Given the description of an element on the screen output the (x, y) to click on. 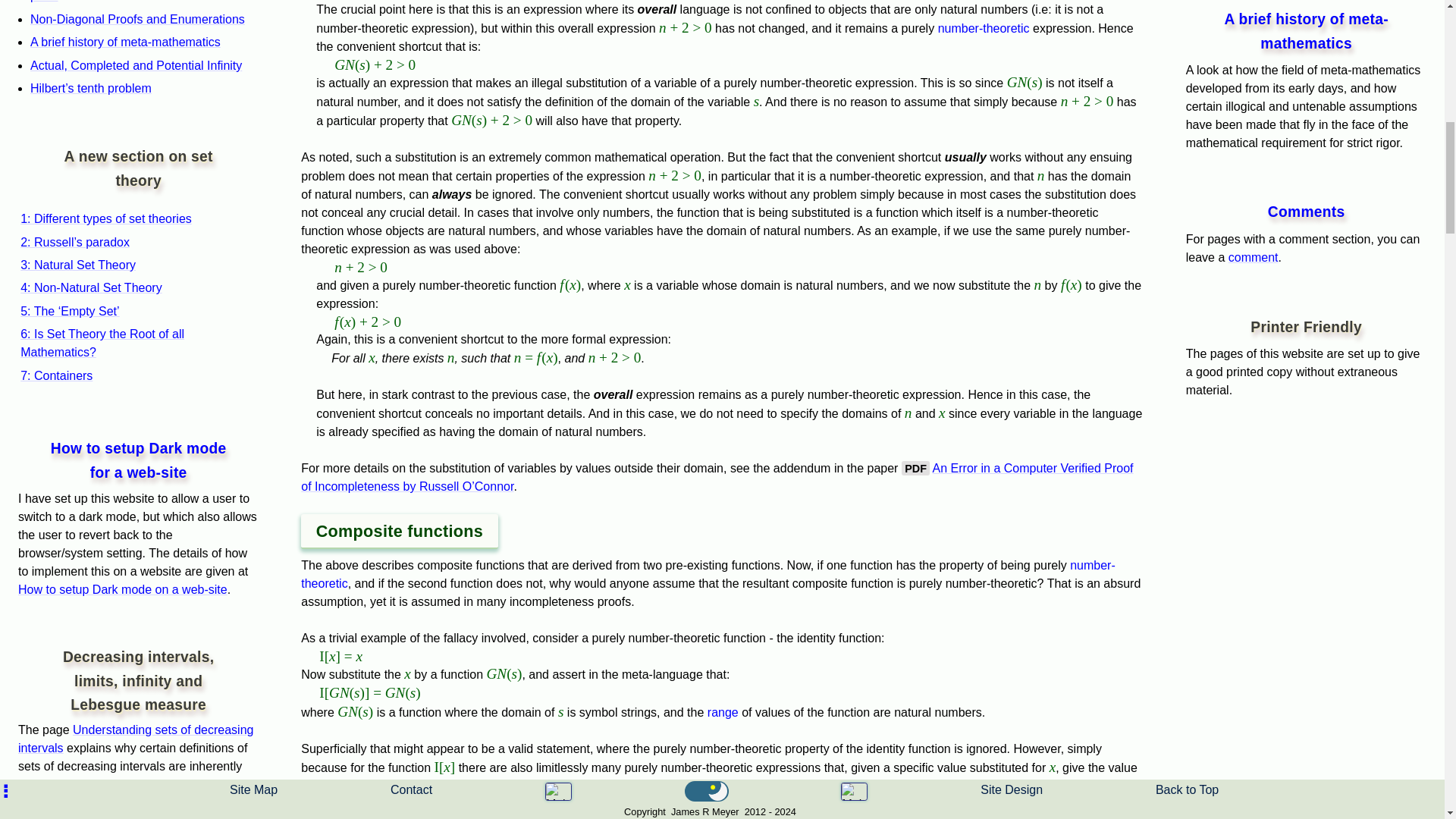
number-theoretic (983, 28)
range (722, 712)
number-theoretic (708, 573)
